Given the description of an element on the screen output the (x, y) to click on. 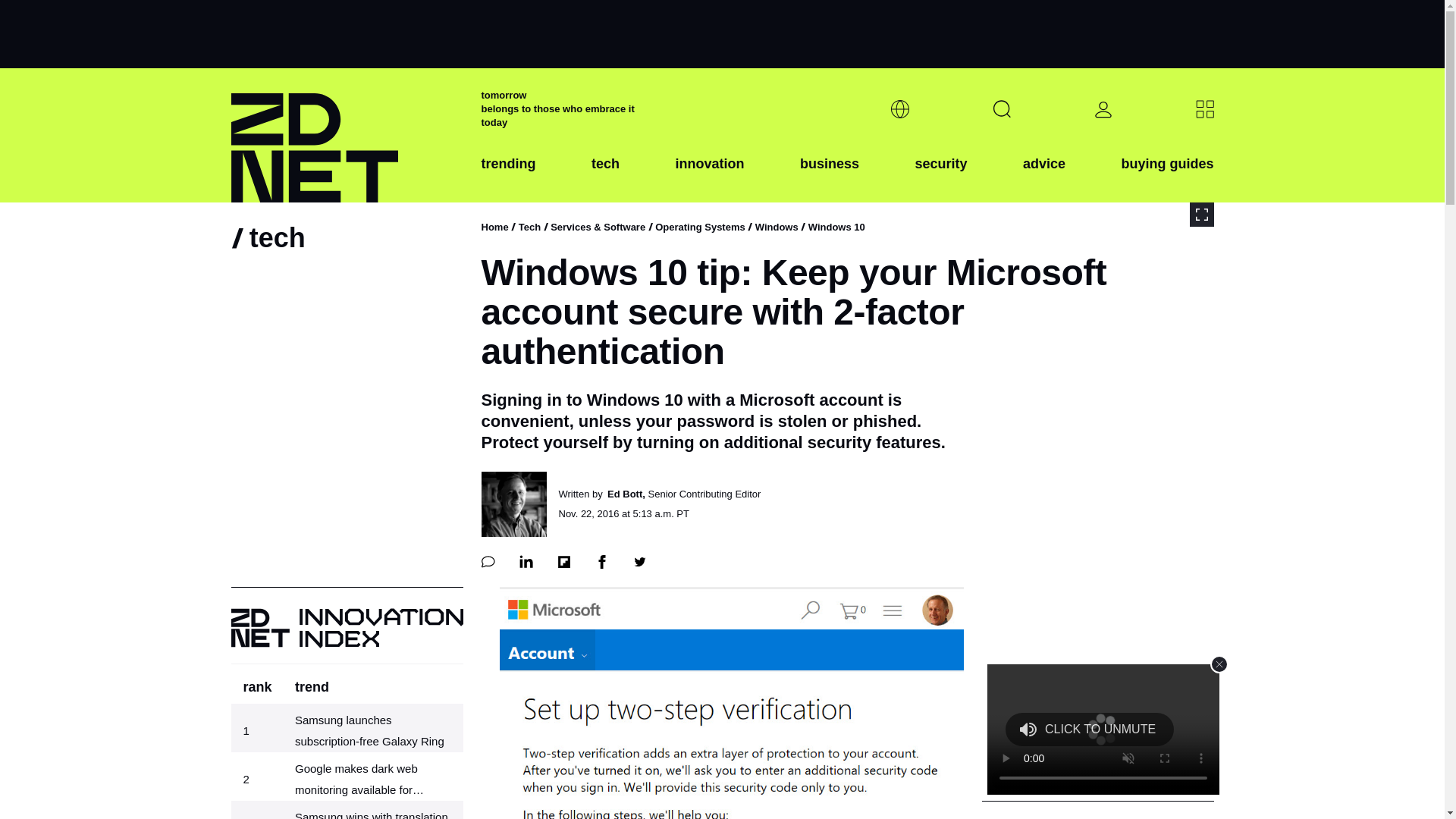
ZDNET (346, 134)
3rd party ad content (721, 33)
tech (605, 175)
trending (507, 175)
